Given the description of an element on the screen output the (x, y) to click on. 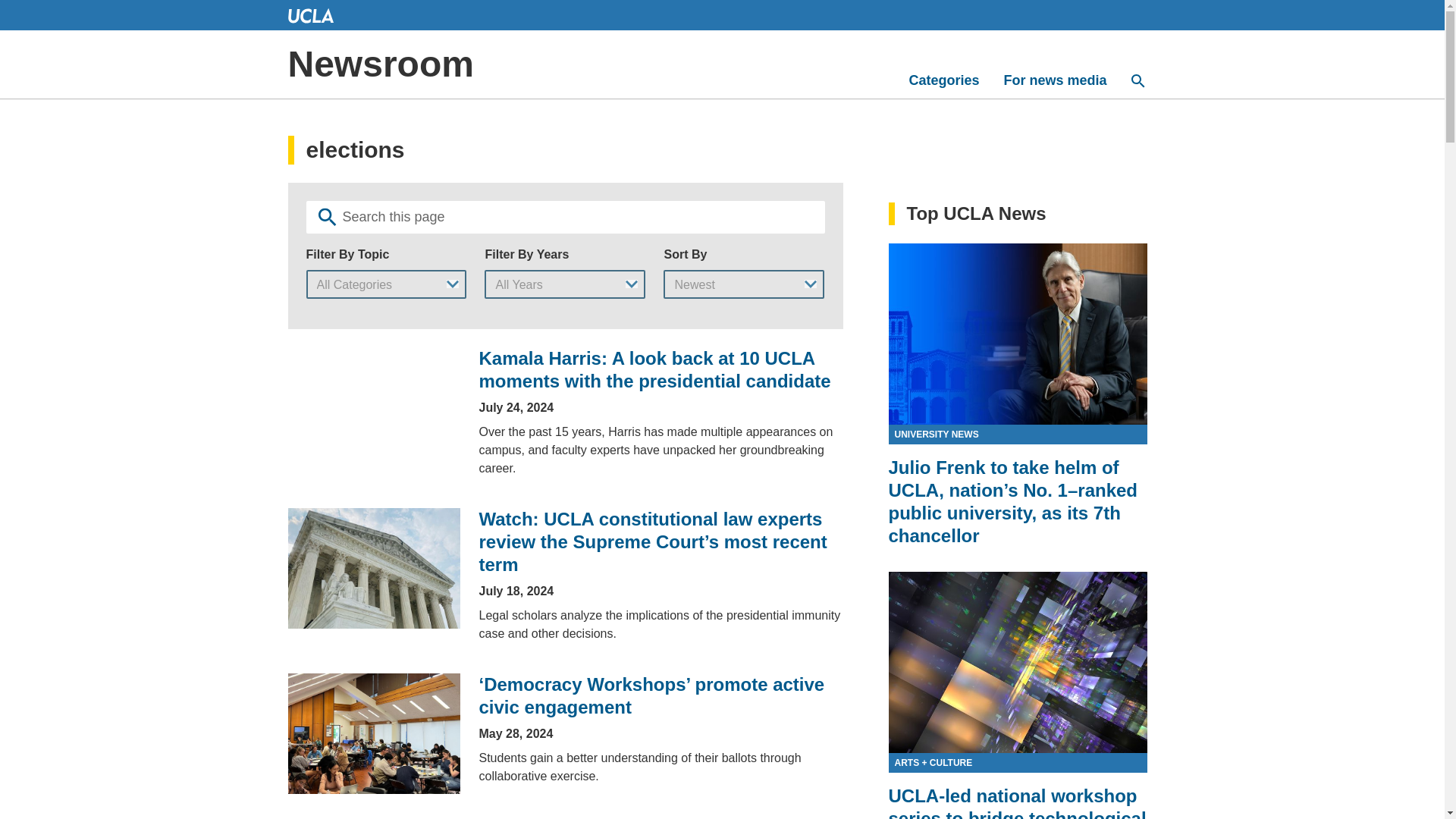
Categories (943, 79)
Submit search (327, 216)
Toggle search (1138, 80)
For news media (1054, 79)
UCLA (310, 15)
Newsroom (381, 64)
